Given the description of an element on the screen output the (x, y) to click on. 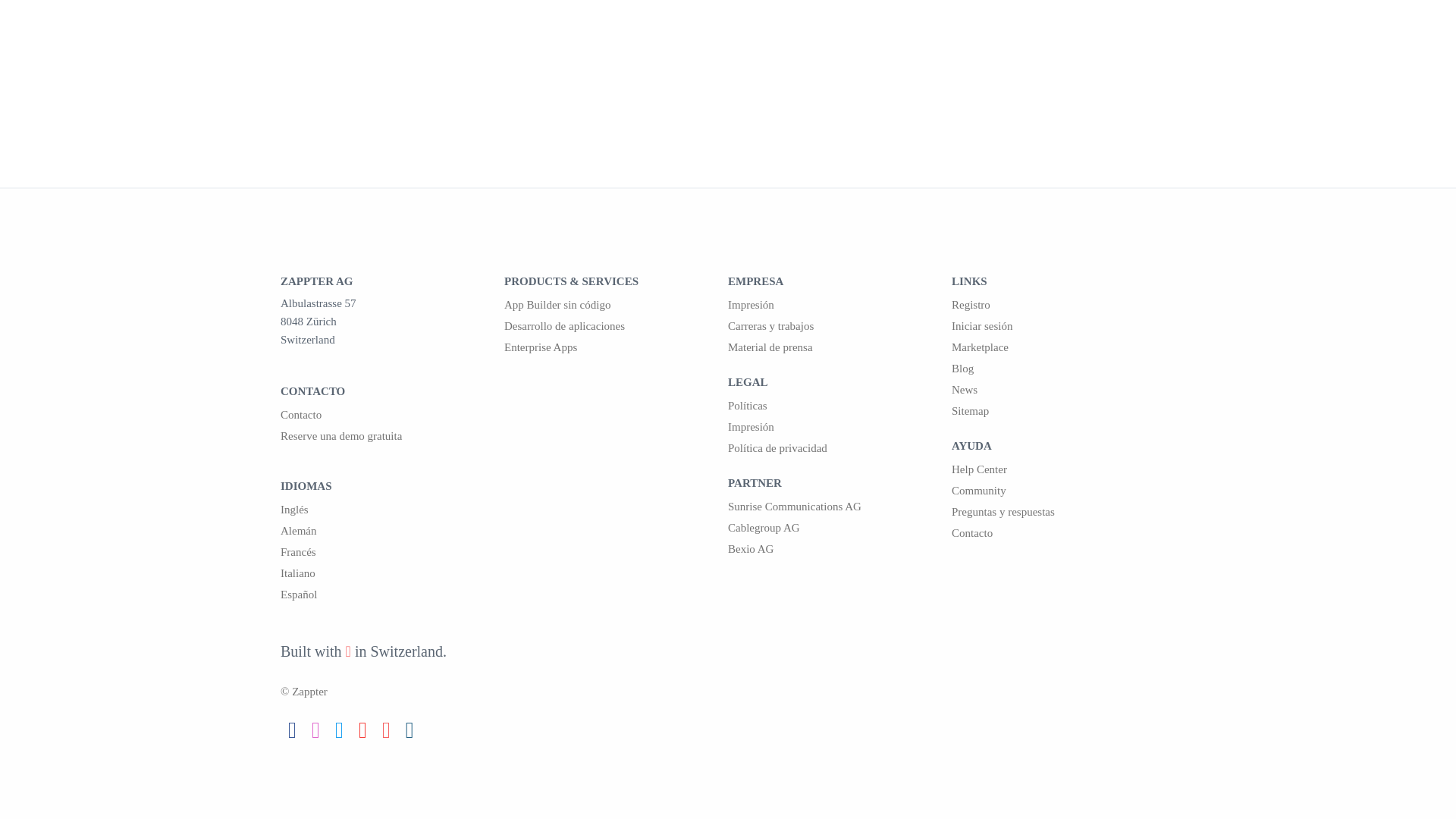
Blog (1063, 368)
Zappter App Builder (615, 304)
News (1063, 389)
Marketplace (1063, 346)
